Given the description of an element on the screen output the (x, y) to click on. 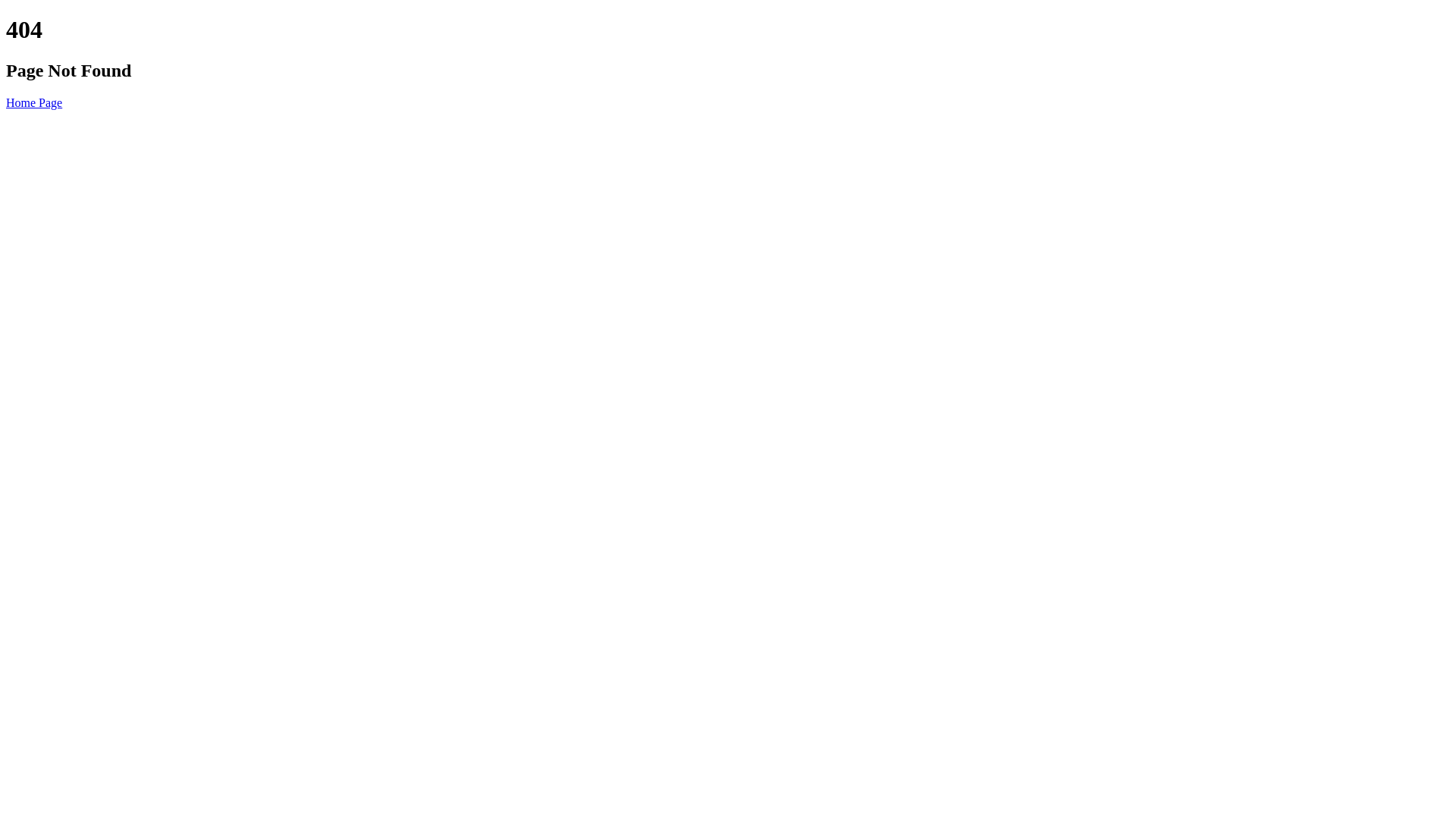
Home Page Element type: text (34, 102)
